Given the description of an element on the screen output the (x, y) to click on. 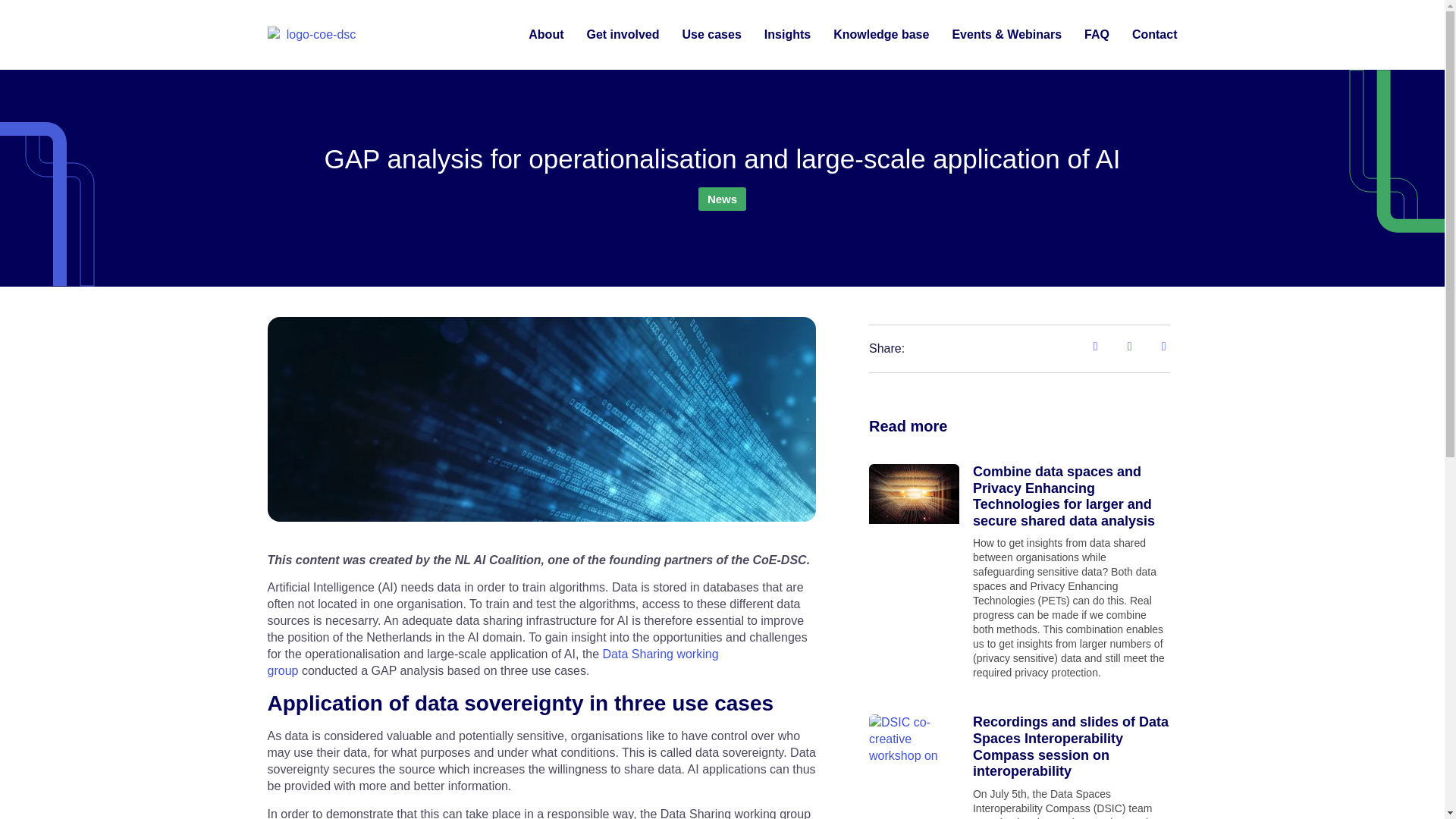
FAQ (1096, 34)
About (545, 34)
Use cases (711, 34)
Contact (1154, 34)
logo-coe-dsc (314, 34)
Data Sharing working group (491, 662)
News (721, 198)
Knowledge base (880, 34)
